Given the description of an element on the screen output the (x, y) to click on. 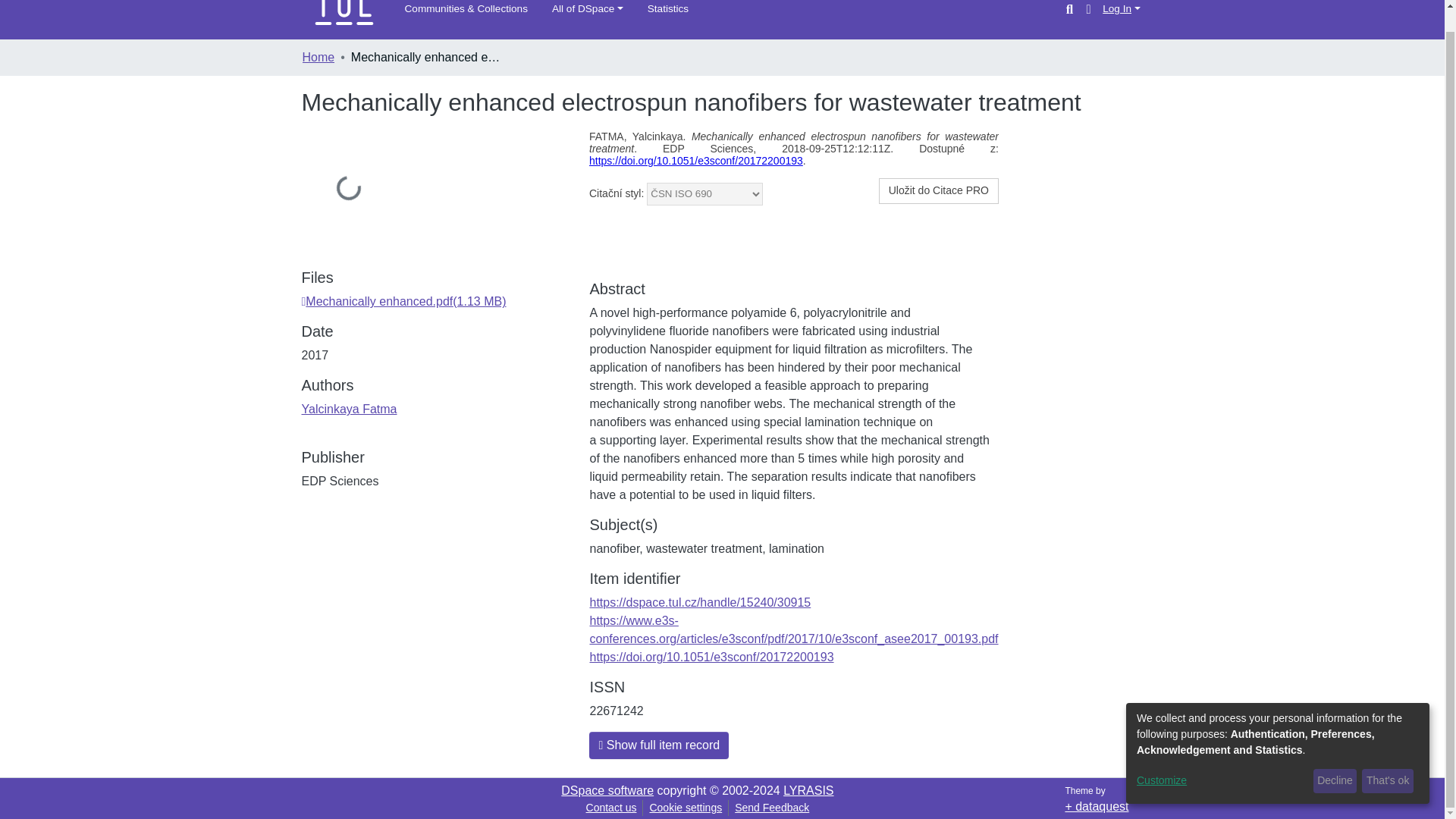
Send Feedback (772, 807)
Search (1069, 8)
Show full item record (659, 745)
Statistics (667, 8)
Log In (1120, 8)
Home (317, 57)
LYRASIS (807, 789)
Statistics (667, 8)
dataquest s.r.o. (1096, 806)
Contact us (611, 807)
